Given the description of an element on the screen output the (x, y) to click on. 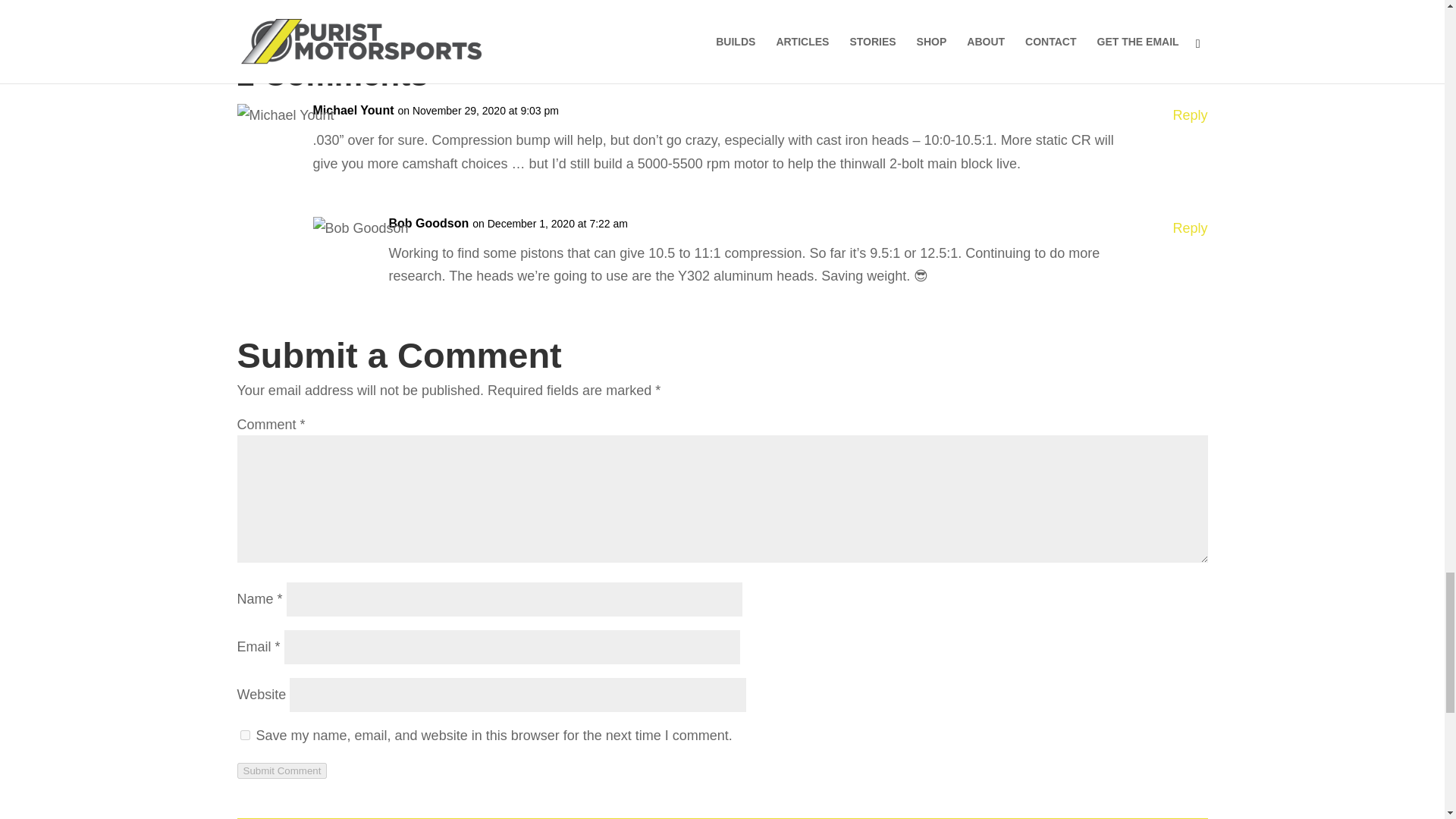
Submit Comment (280, 770)
Reply (1189, 115)
yes (244, 735)
Reply (1189, 228)
